Given the description of an element on the screen output the (x, y) to click on. 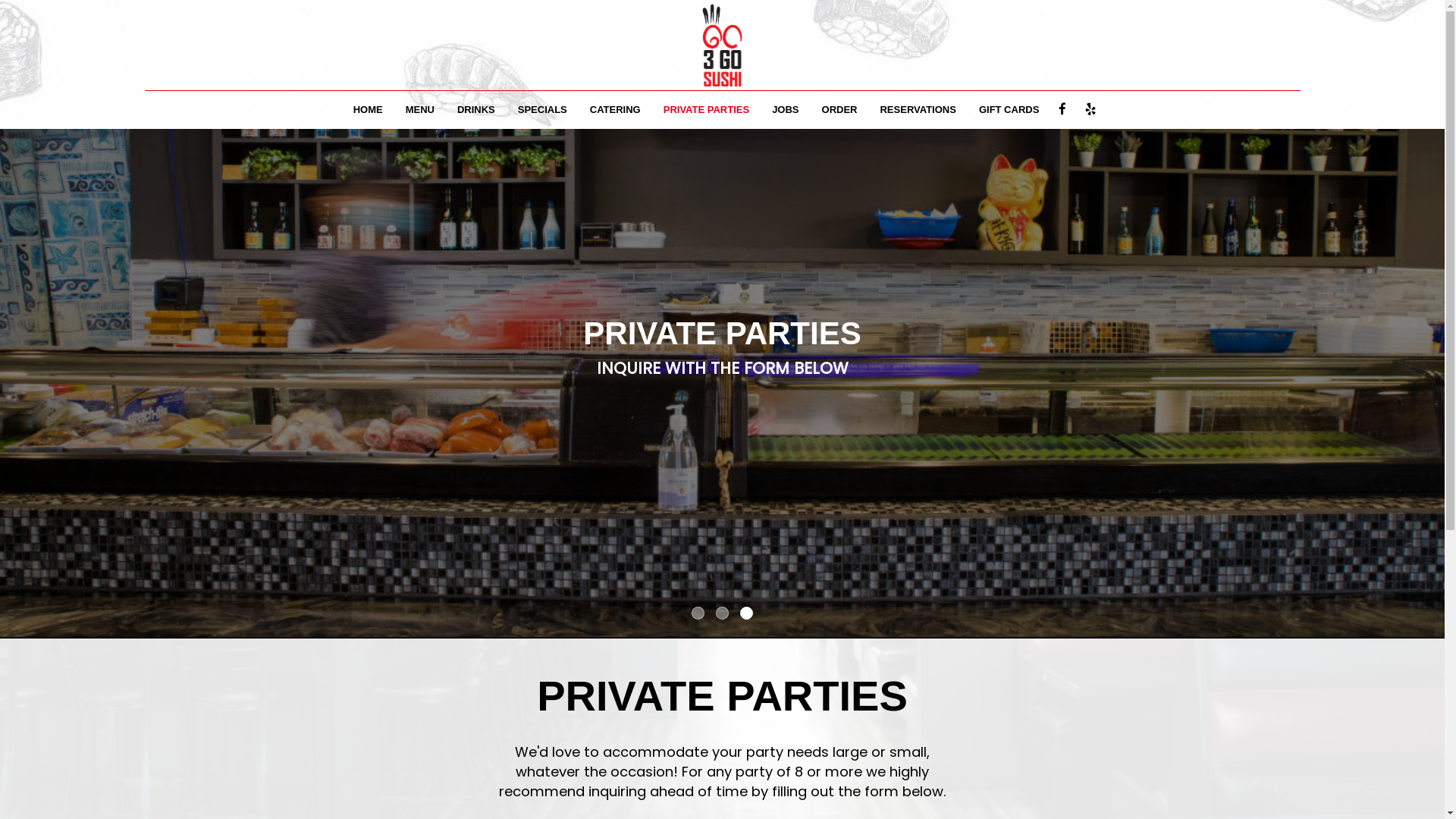
HOME Element type: text (368, 109)
SPECIALS Element type: text (542, 109)
JOBS Element type: text (784, 109)
GIFT CARDS Element type: text (1008, 109)
DRINKS Element type: text (475, 109)
ORDER Element type: text (839, 109)
PRIVATE PARTIES Element type: text (706, 109)
RESERVATIONS Element type: text (917, 109)
MENU Element type: text (419, 109)
CATERING Element type: text (615, 109)
